Given the description of an element on the screen output the (x, y) to click on. 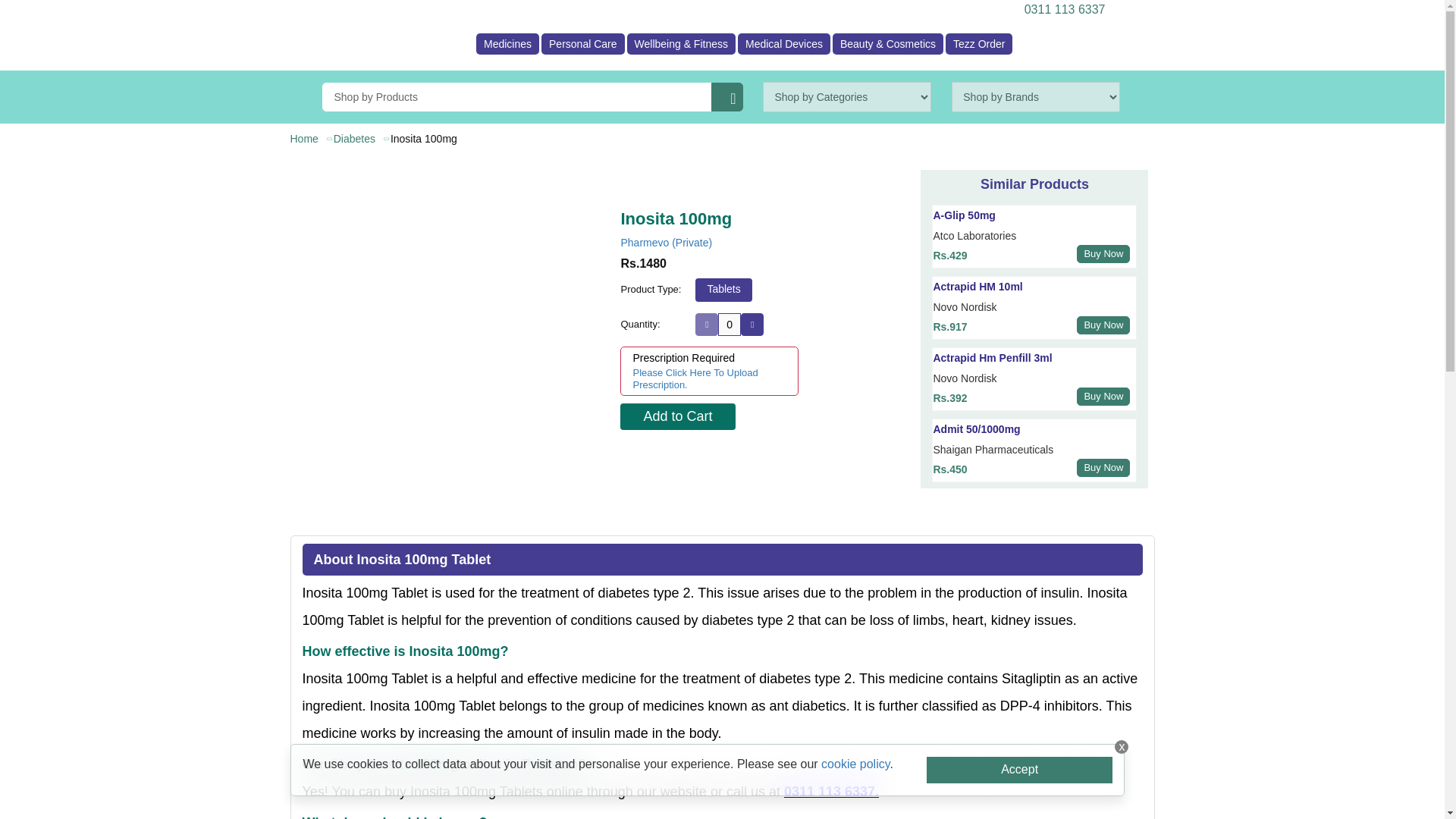
cookie policy (855, 763)
0 (729, 323)
Up (751, 323)
0311 113 6337 (1062, 9)
Tezz Order (977, 43)
Search (726, 96)
Accept (1019, 769)
Down (706, 323)
Search (726, 96)
